Given the description of an element on the screen output the (x, y) to click on. 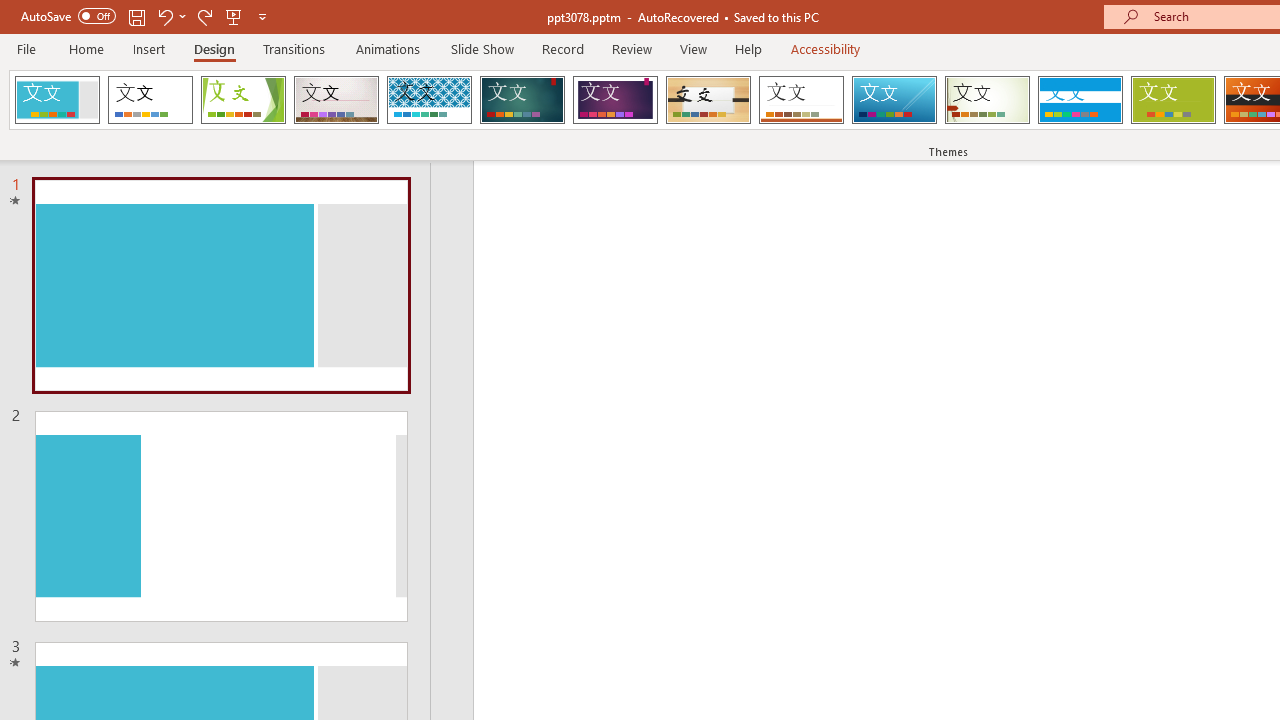
Frame (57, 100)
Wisp (987, 100)
Retrospect (801, 100)
Integral (429, 100)
